Given the description of an element on the screen output the (x, y) to click on. 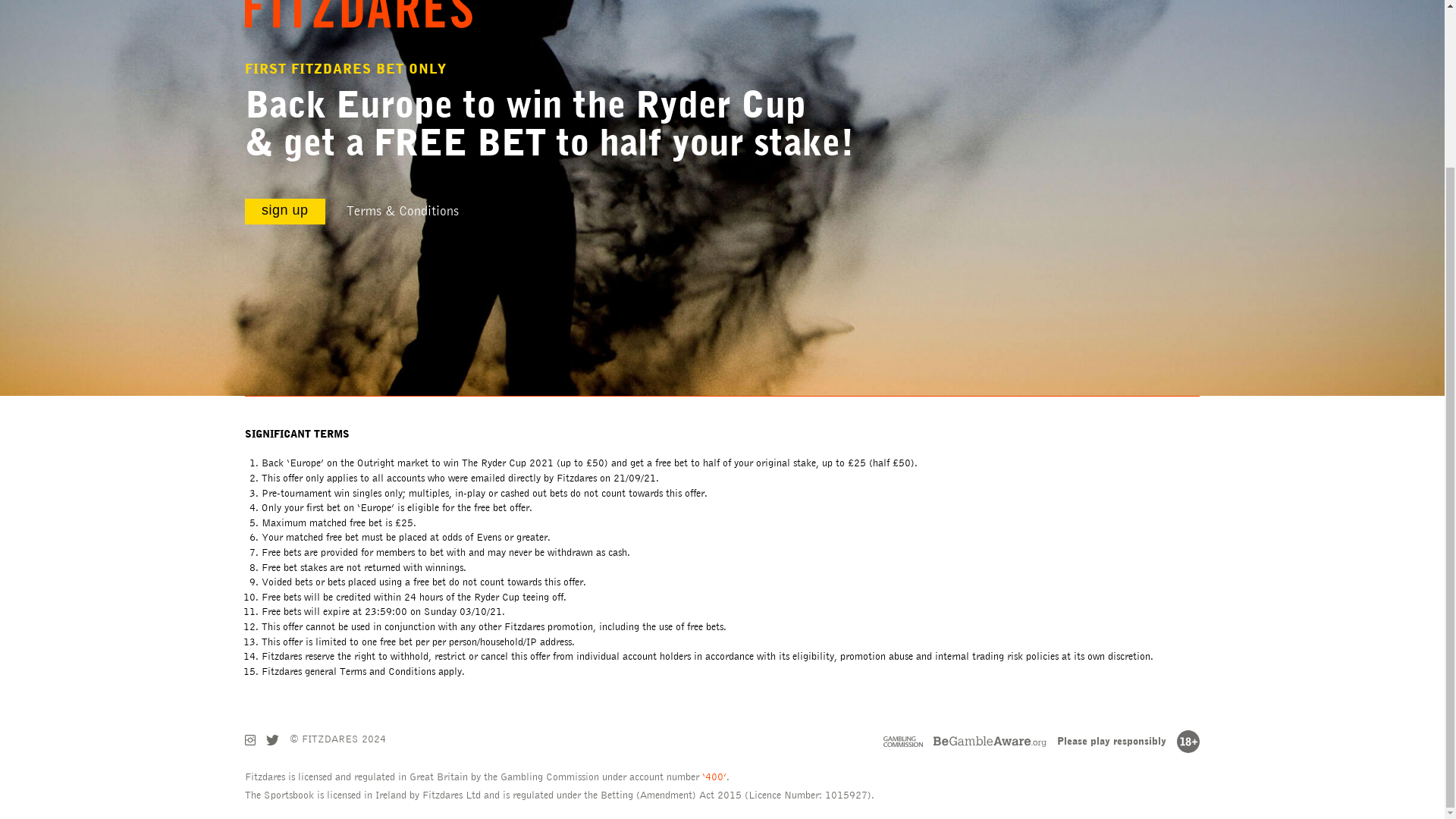
sign up (285, 211)
